Given the description of an element on the screen output the (x, y) to click on. 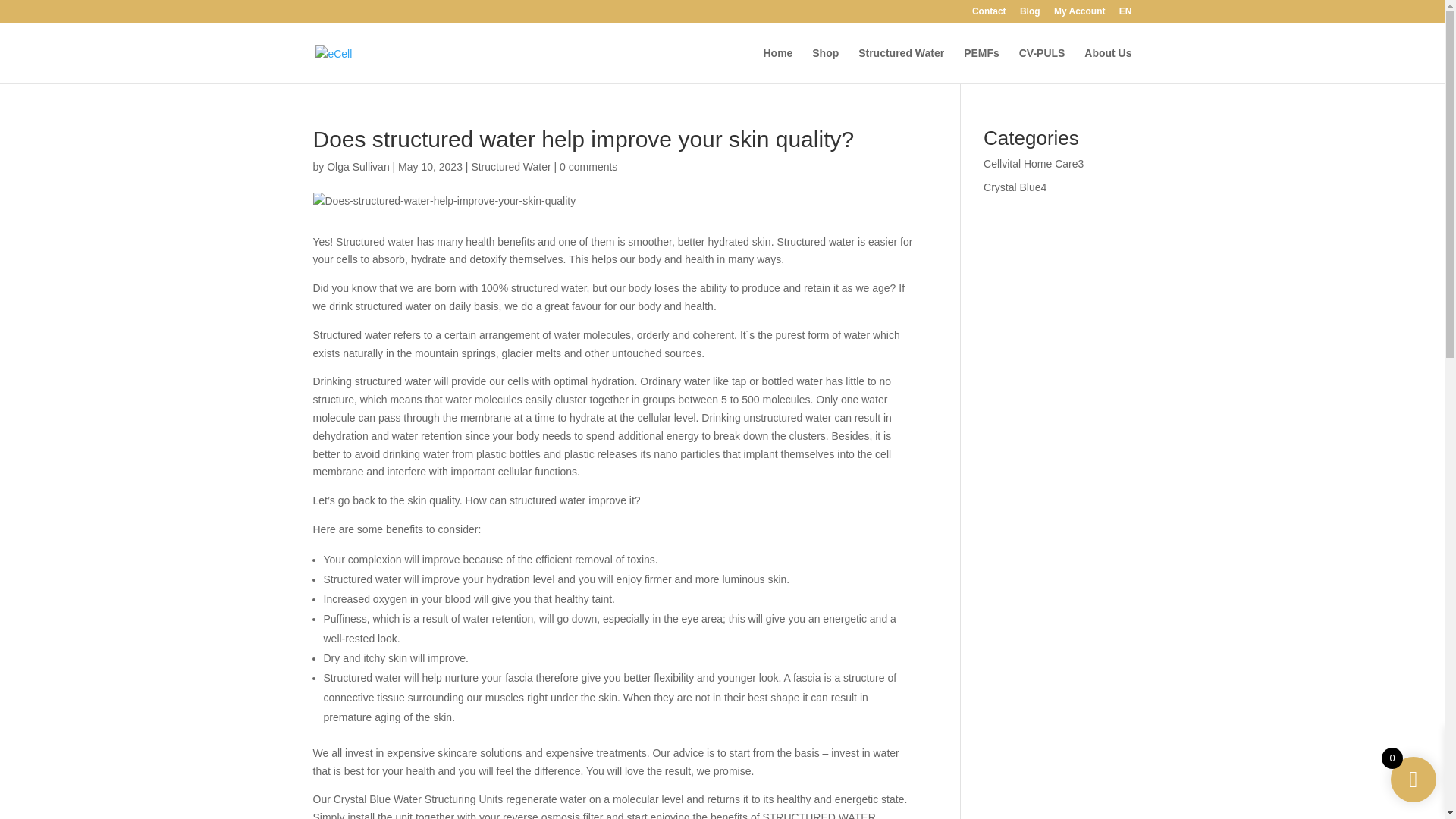
Crystal Blue (1012, 186)
Cellvital Home Care (1030, 163)
CV-PULS (1042, 65)
PEMFs (980, 65)
Olga Sullivan (358, 166)
Contact (989, 14)
Structured Water (510, 166)
About Us (1107, 65)
My Account (1079, 14)
0 comments (588, 166)
